Given the description of an element on the screen output the (x, y) to click on. 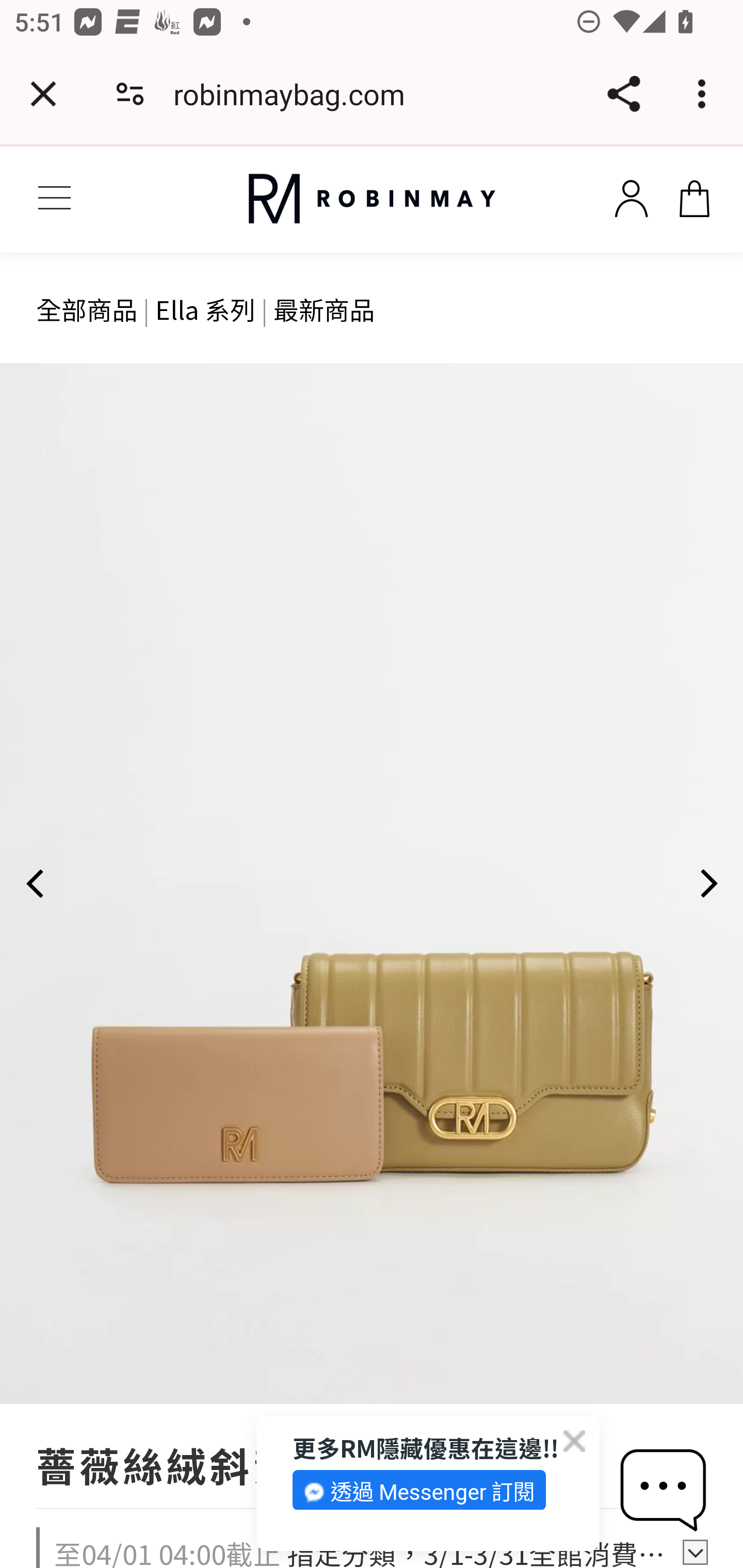
Close tab (43, 93)
Share (623, 93)
Customize and control Google Chrome (705, 93)
Connection is secure (129, 93)
robinmaybag.com (296, 93)
original (371, 199)
x100 (631, 195)
x100 (694, 195)
全部商品 (86, 308)
Ella 系列 (205, 308)
最新商品 (323, 308)
